Given the description of an element on the screen output the (x, y) to click on. 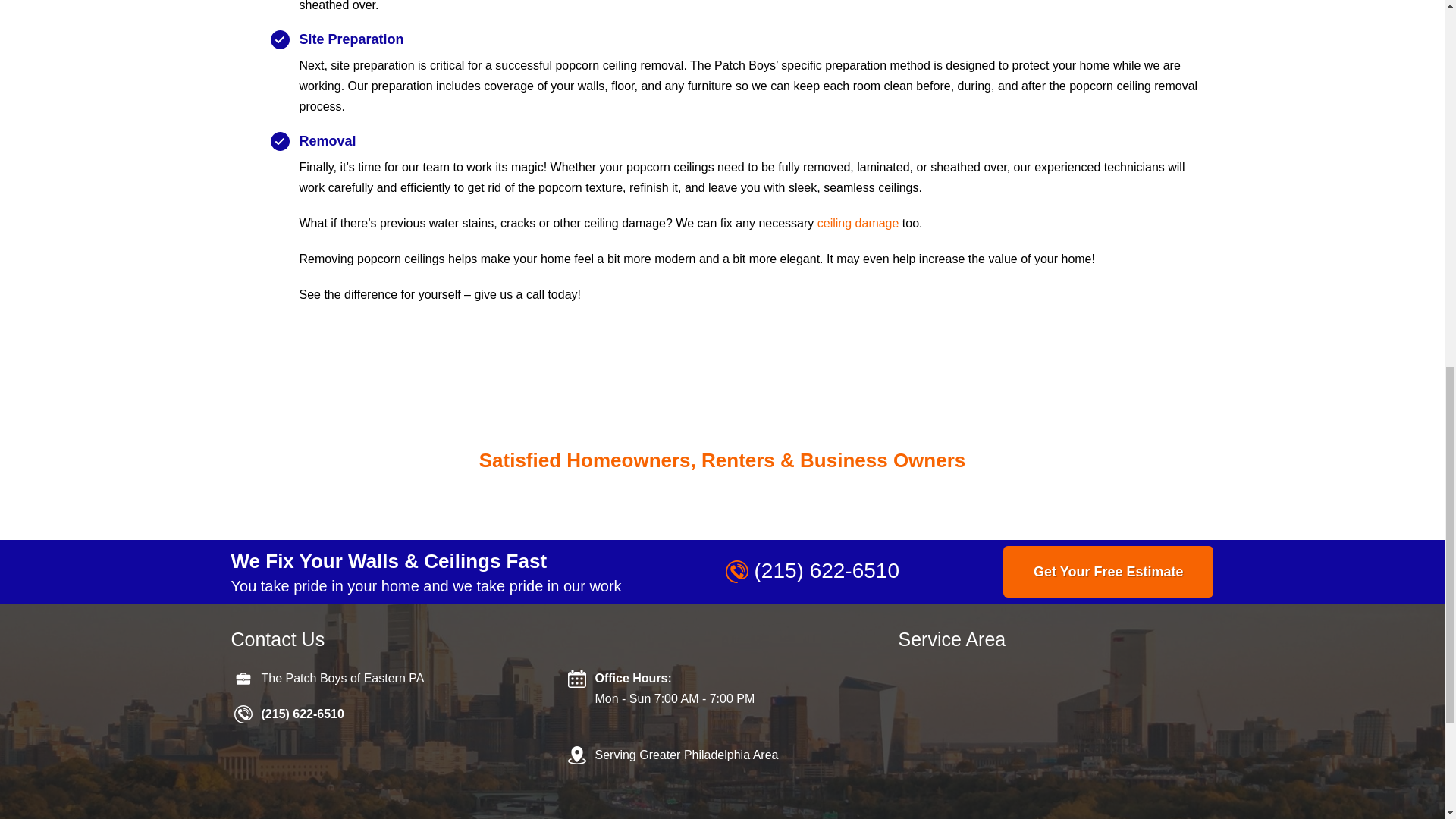
Get Your Free Estimate (1107, 571)
ceiling damage (857, 223)
